Given the description of an element on the screen output the (x, y) to click on. 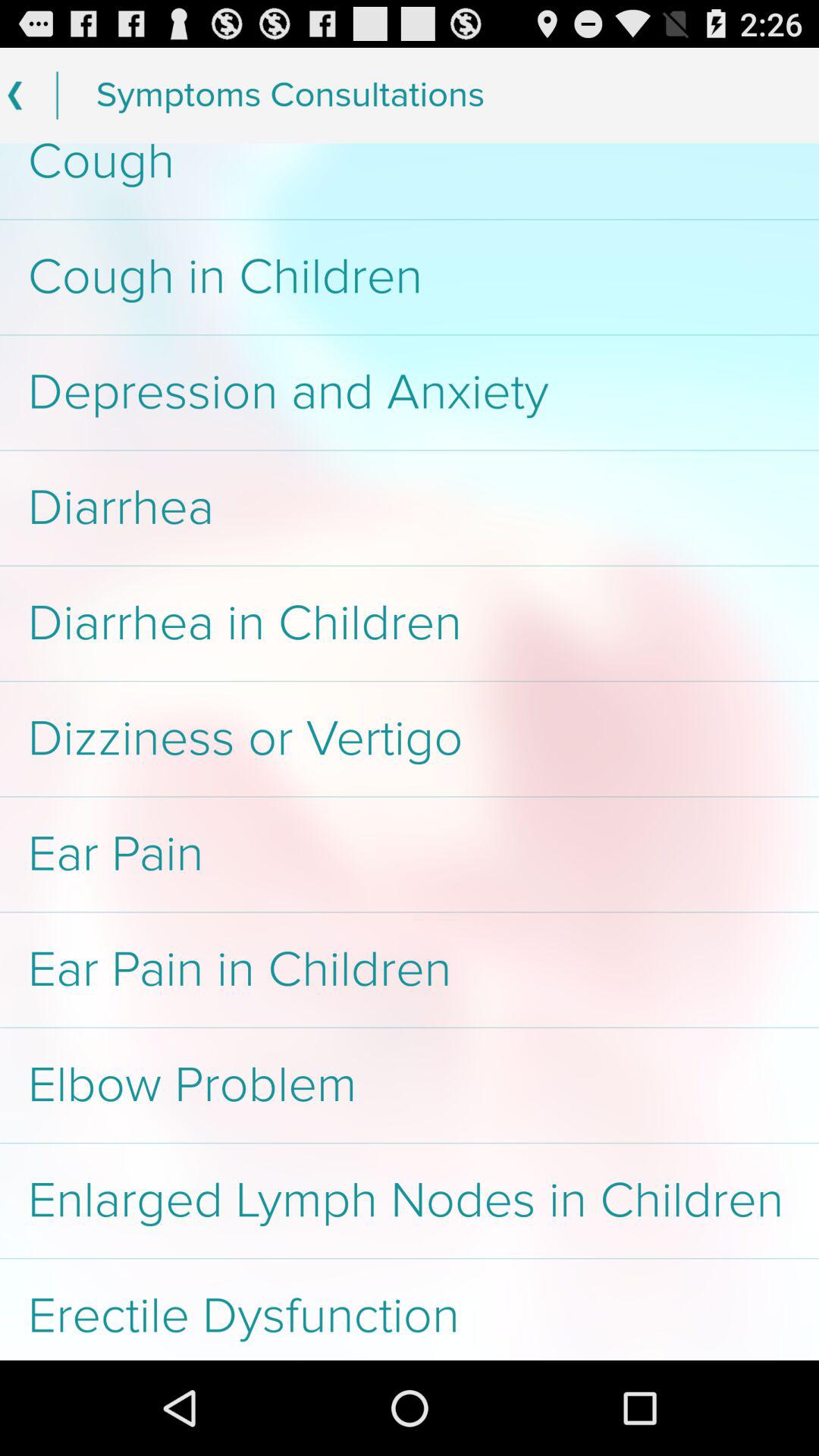
swipe until depression and anxiety (409, 392)
